Given the description of an element on the screen output the (x, y) to click on. 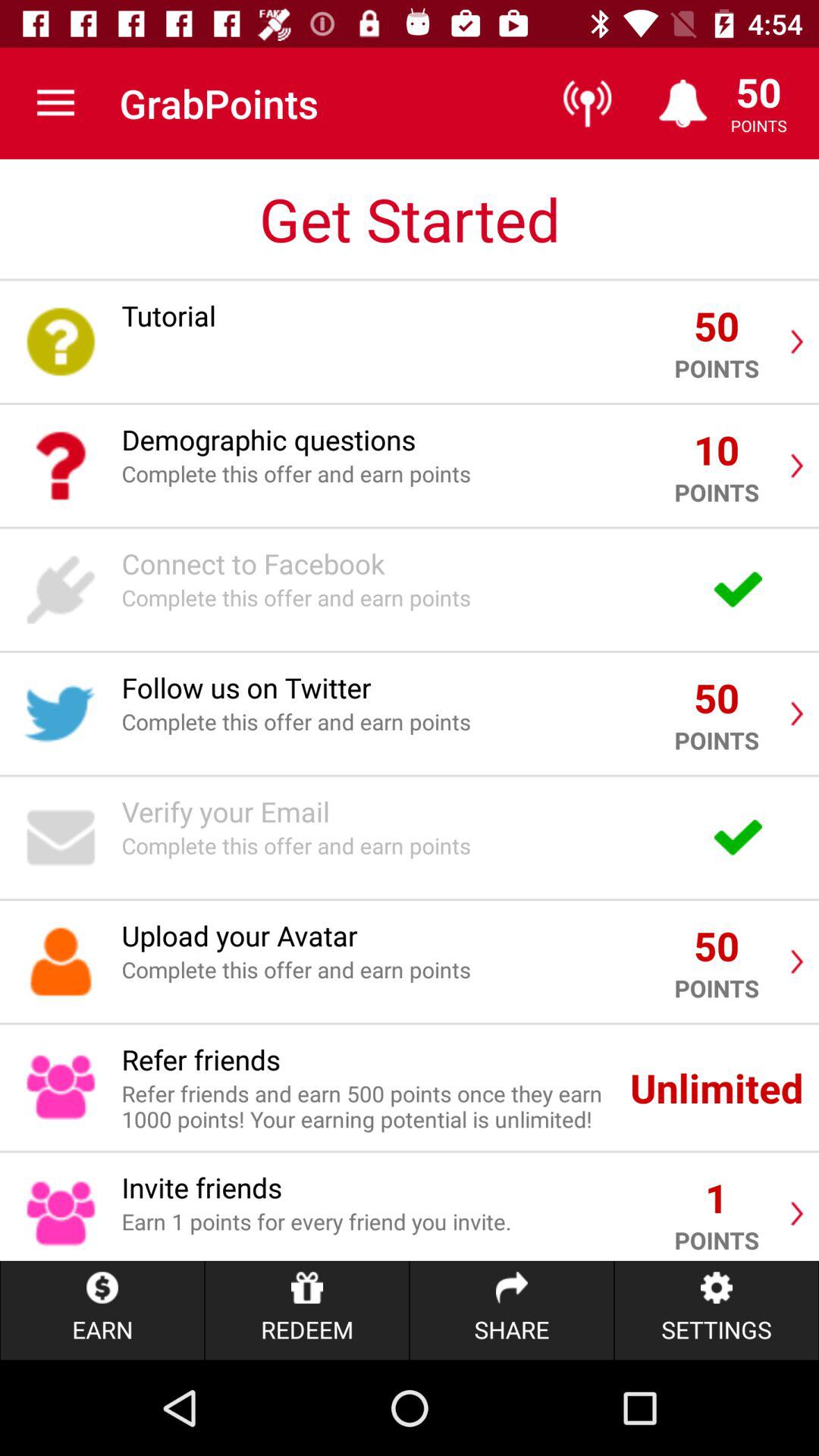
choose icon to the left of grabpoints app (55, 103)
